Given the description of an element on the screen output the (x, y) to click on. 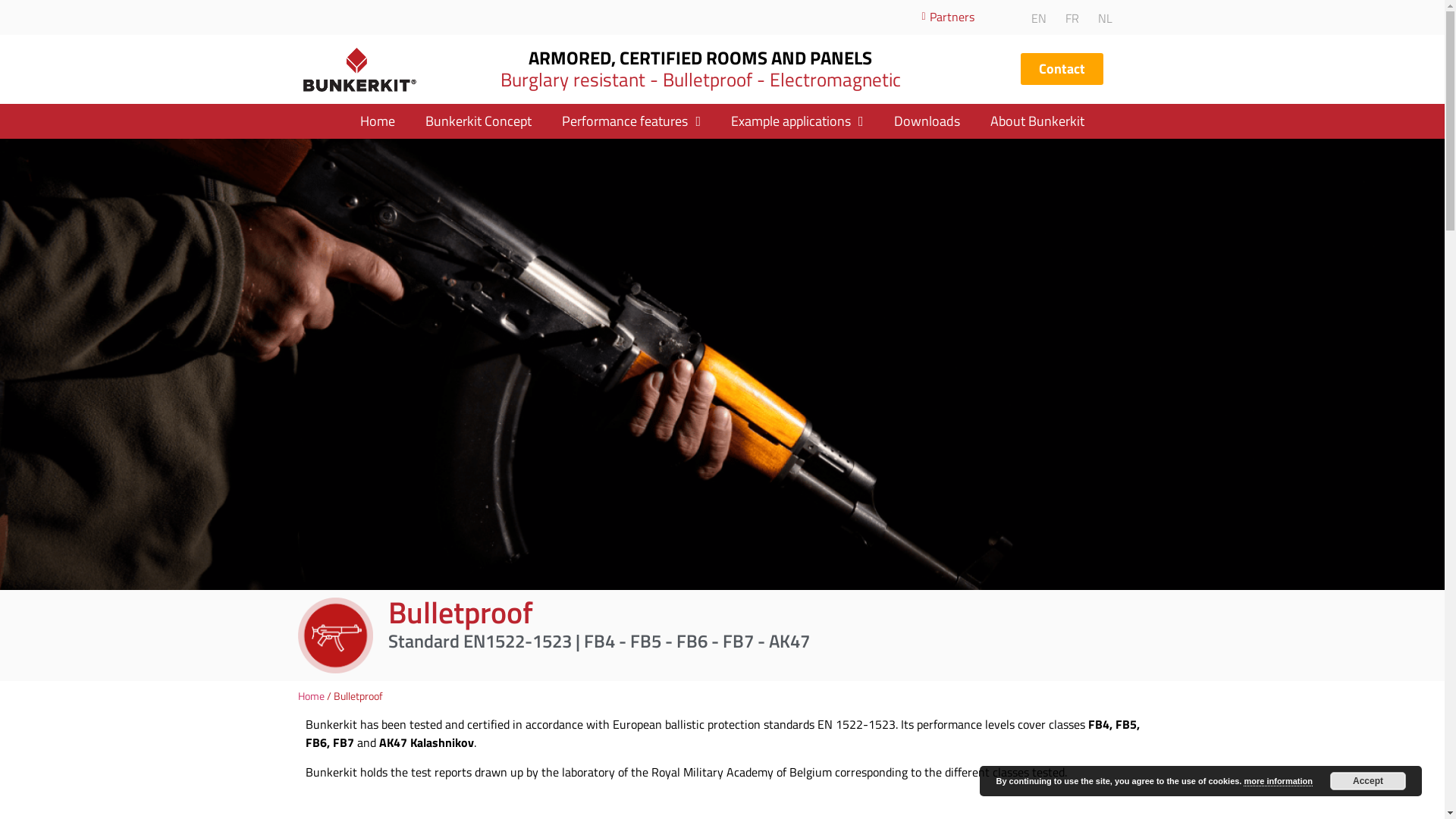
more information Element type: text (1277, 781)
Partners Element type: text (943, 16)
kogelwerende norm FB4 FB5 FB6 FB7 AK47 Element type: hover (722, 363)
NL Element type: text (1101, 17)
EN Element type: text (1034, 17)
Accept Element type: text (1367, 780)
Example applications Element type: text (796, 120)
FR Element type: text (1068, 17)
Home Element type: text (310, 695)
Bunkerkit Concept Element type: text (478, 120)
Performance features Element type: text (630, 120)
Downloads Element type: text (926, 120)
About Bunkerkit Element type: text (1037, 120)
Contact Element type: text (1061, 68)
Home Element type: text (377, 120)
